Given the description of an element on the screen output the (x, y) to click on. 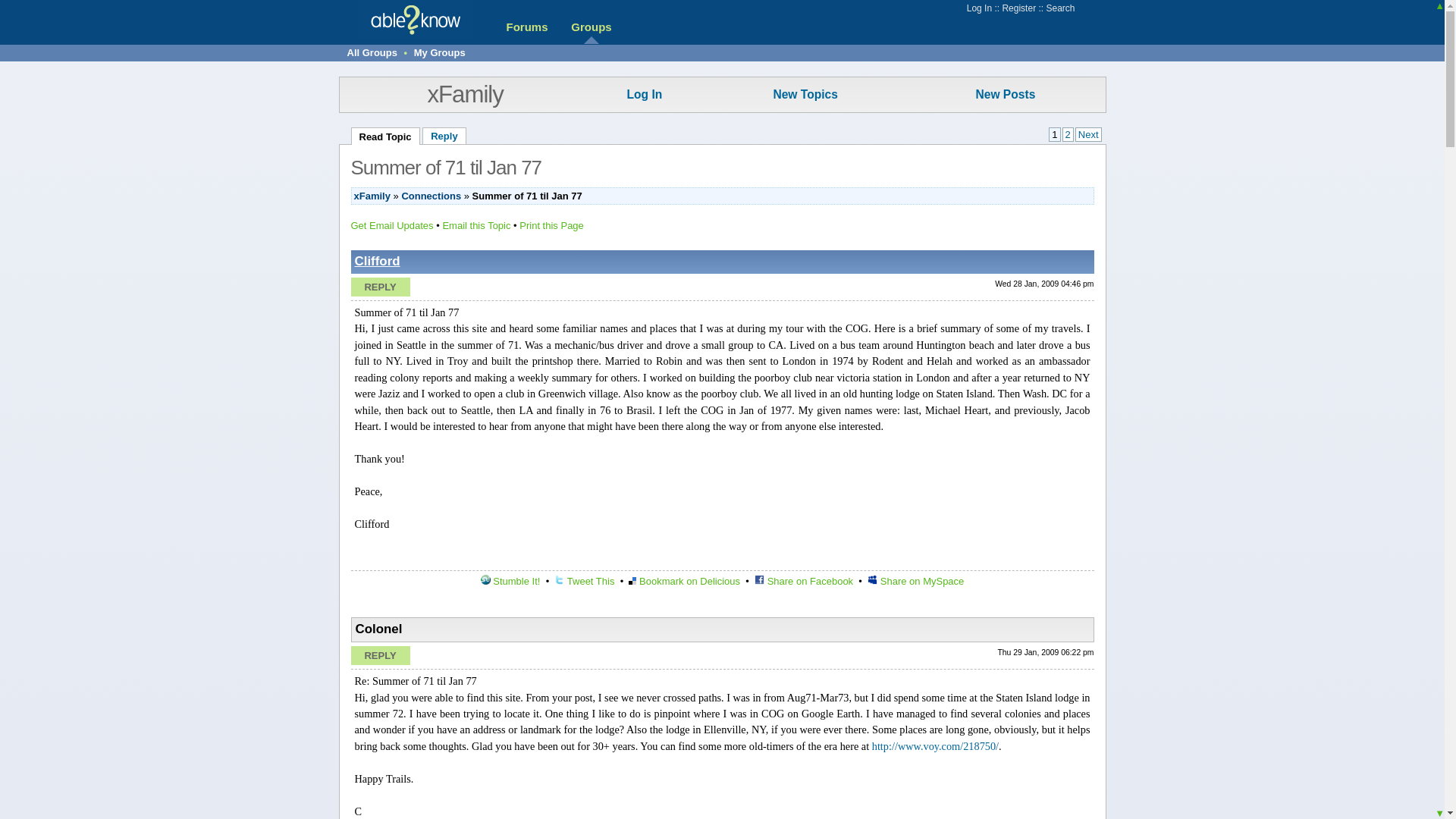
Reply (443, 135)
View Profile (377, 260)
Register (1018, 8)
Forums (526, 26)
New Topics (805, 93)
Log In (644, 93)
xFamily (371, 195)
REPLY (379, 655)
Search (1059, 8)
Print this Page (551, 225)
Tweet This (584, 581)
Stumble It! (510, 581)
xFamily (464, 94)
REPLY (379, 286)
Register (1018, 8)
